Given the description of an element on the screen output the (x, y) to click on. 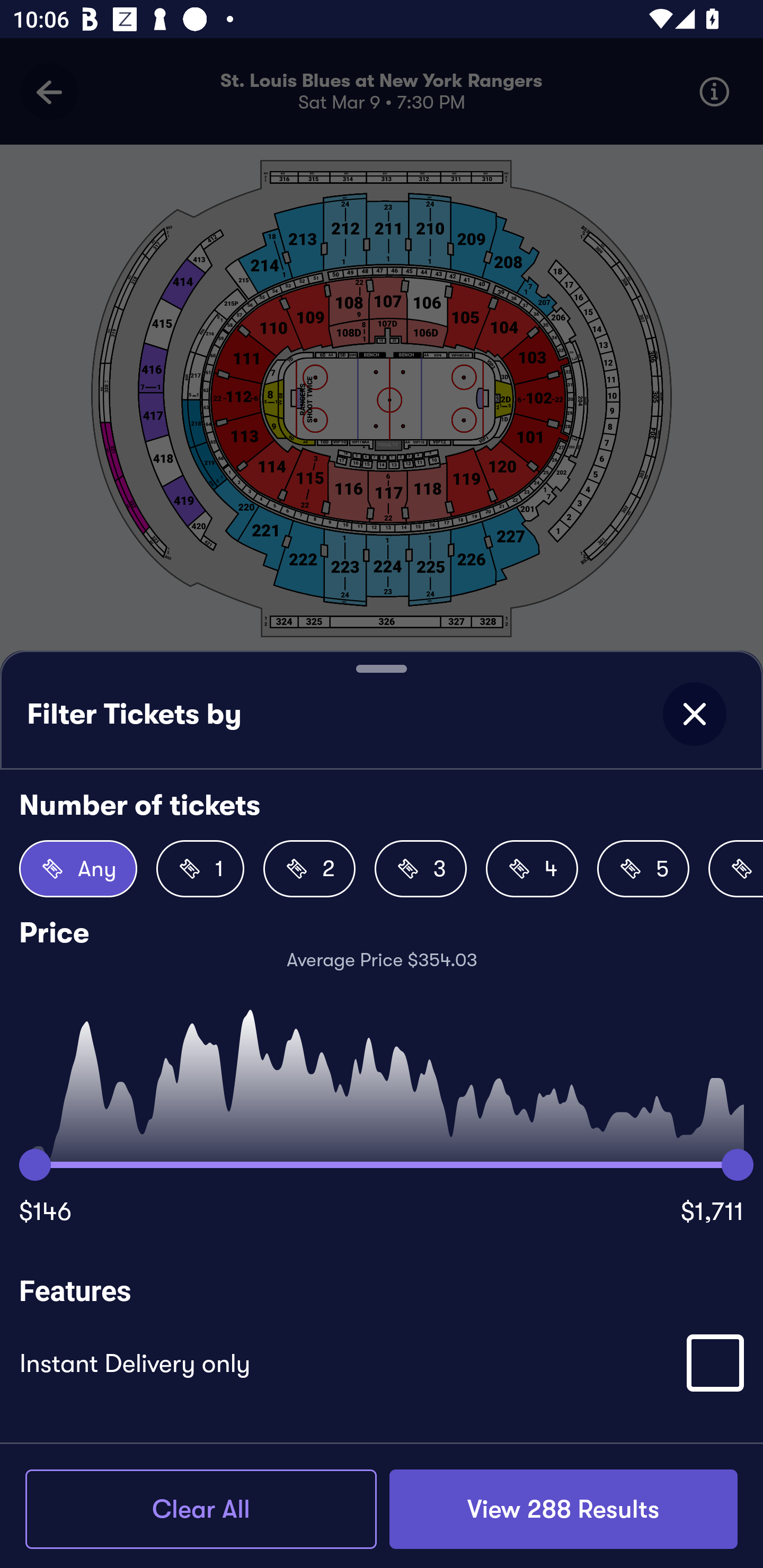
close (694, 714)
Any (78, 868)
1 (200, 868)
2 (309, 868)
3 (420, 868)
4 (532, 868)
5 (642, 868)
Clear All (200, 1509)
View 288 Results (563, 1509)
